Given the description of an element on the screen output the (x, y) to click on. 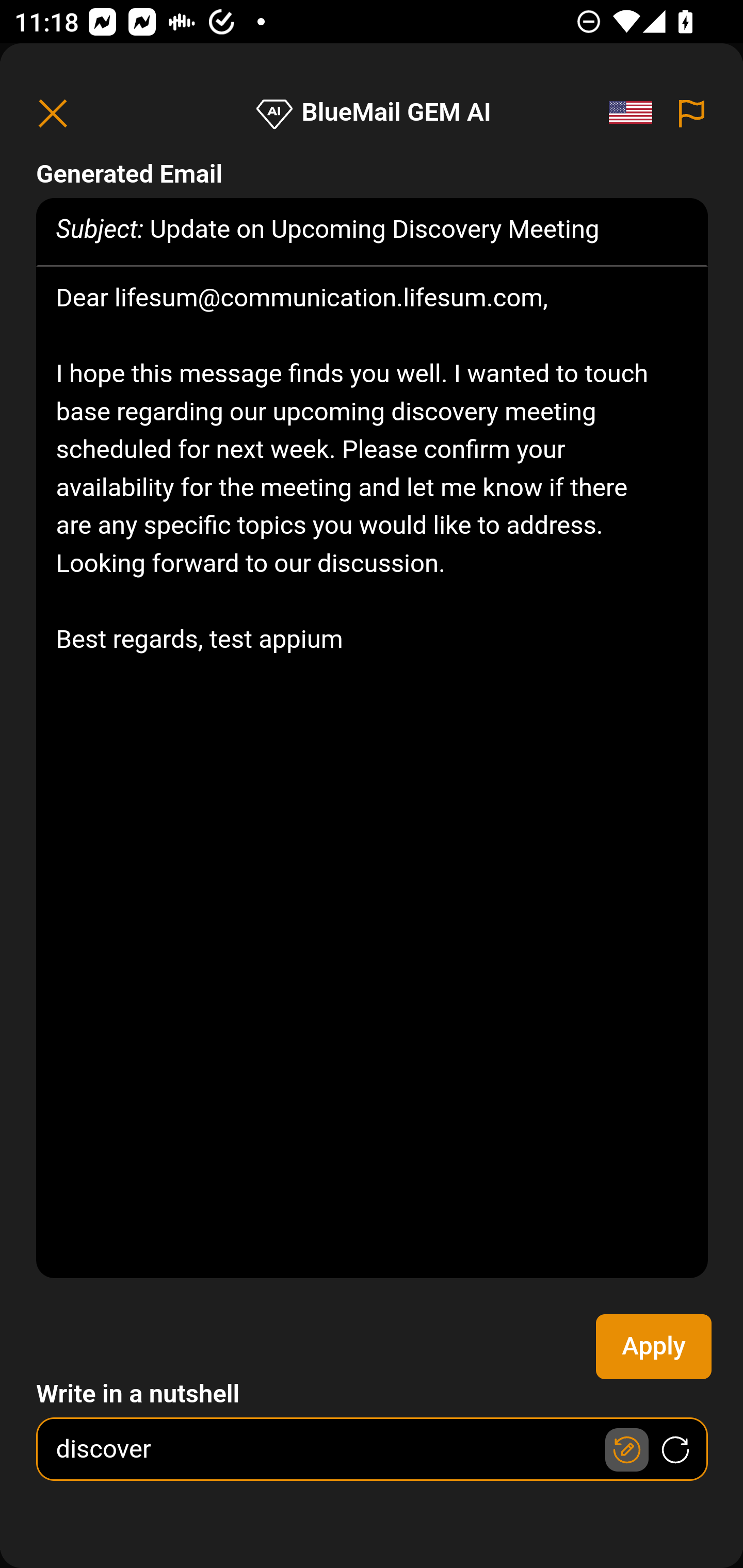
svg%3e (636, 113)
Report (692, 113)
Apply (654, 1346)
discover (372, 1449)
